Given the description of an element on the screen output the (x, y) to click on. 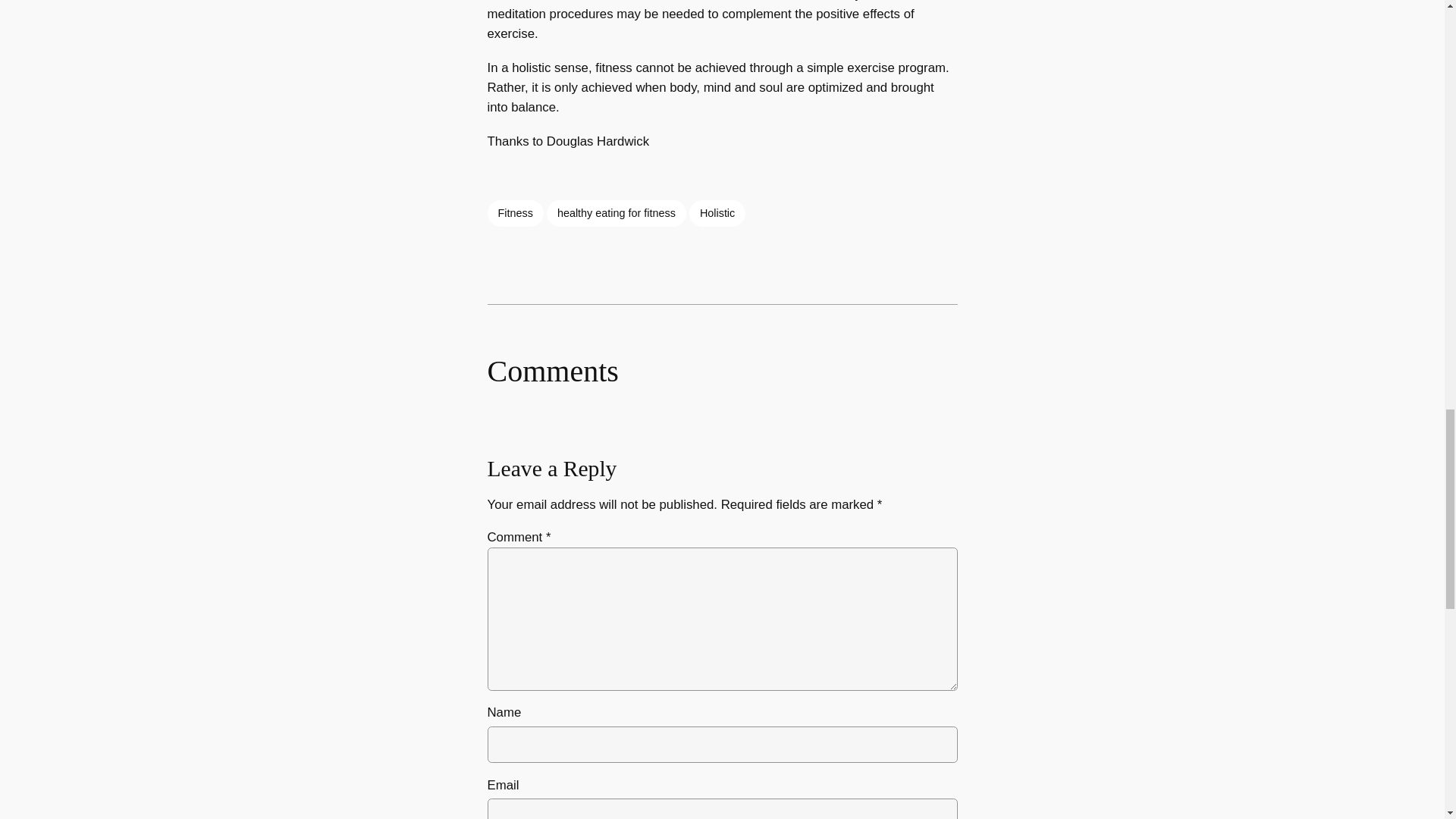
Fitness (514, 212)
healthy eating for fitness (616, 212)
